Given the description of an element on the screen output the (x, y) to click on. 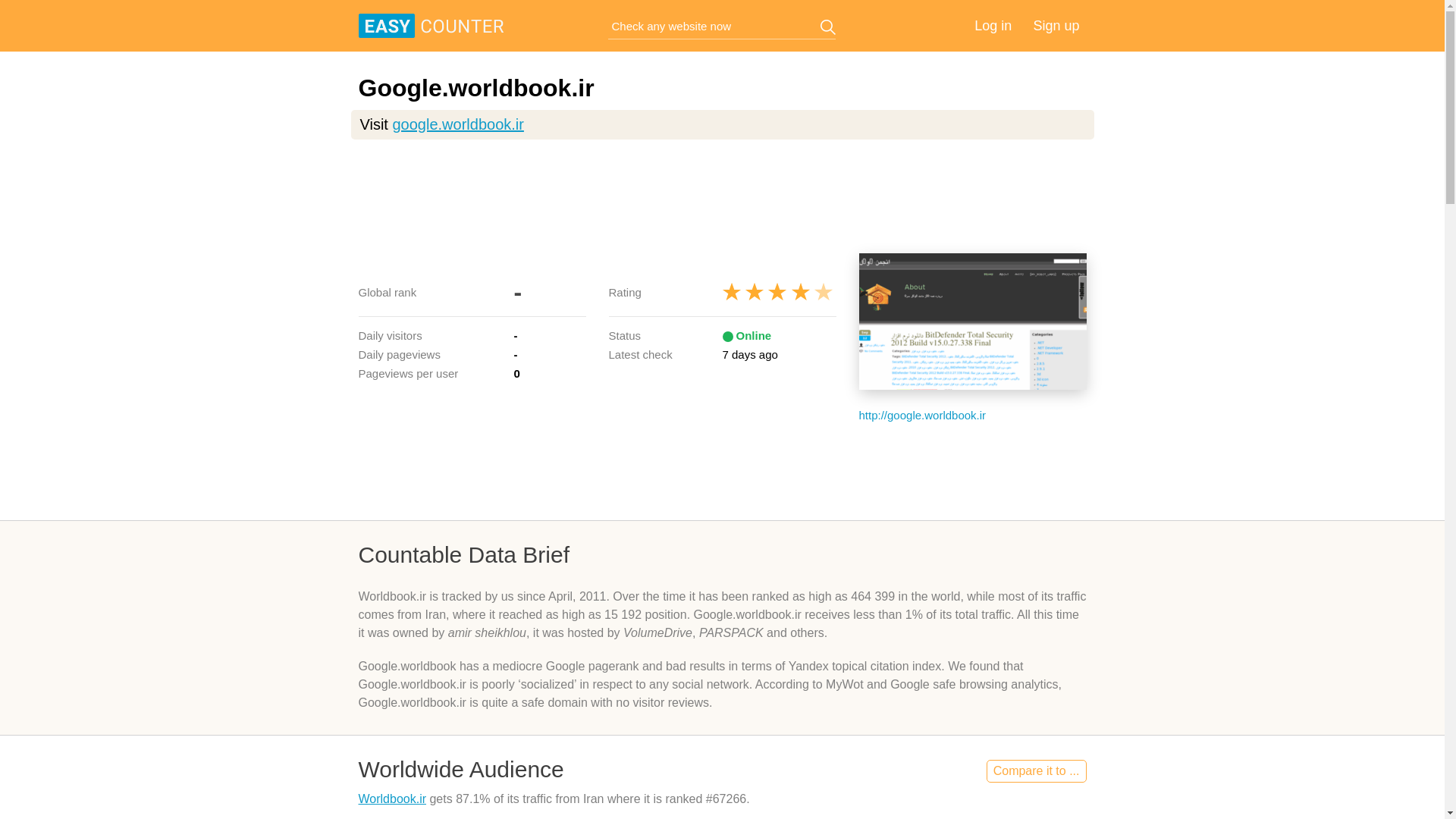
3rd party ad content (726, 470)
Log in (992, 25)
Google.worldbook.ir thumbnail (972, 321)
Compare it to ... (1036, 771)
Sign up (1056, 25)
google.worldbook.ir (456, 124)
Worldbook.ir (392, 798)
3rd party ad content (725, 196)
